Given the description of an element on the screen output the (x, y) to click on. 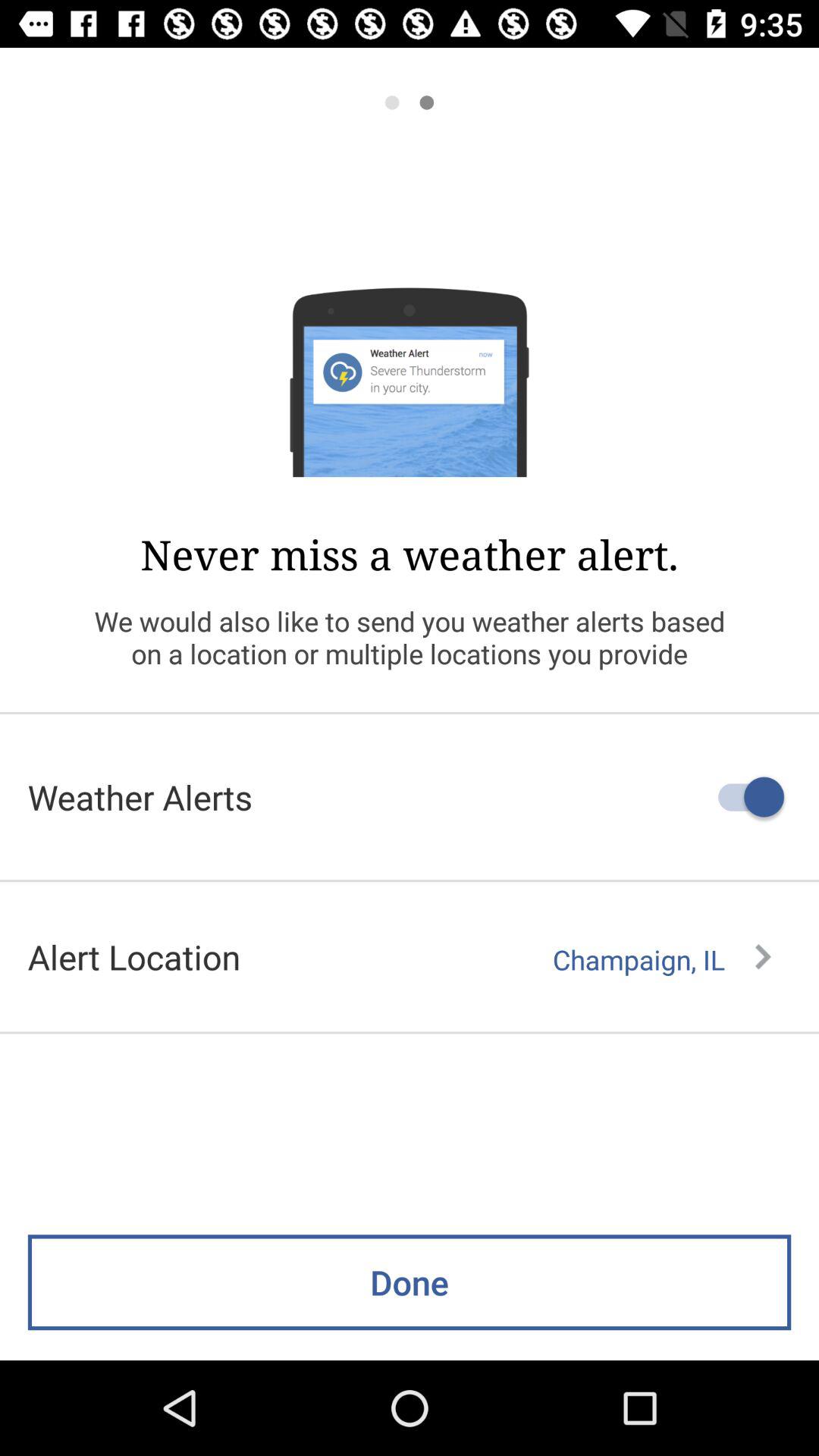
swipe until done item (409, 1282)
